Given the description of an element on the screen output the (x, y) to click on. 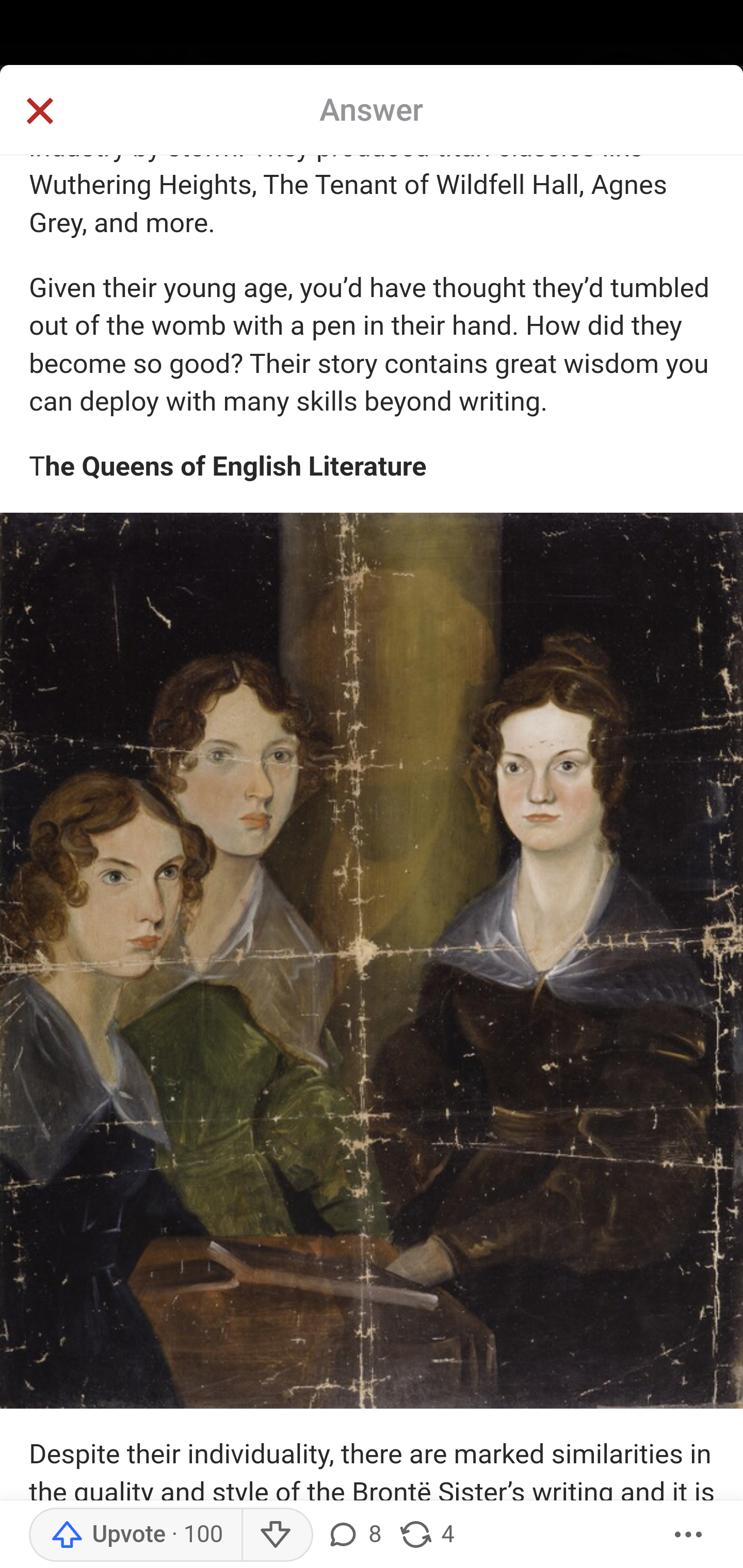
 (39, 112)
Upvote (135, 1534)
Downvote (277, 1534)
8 comments (353, 1534)
4 shares (425, 1534)
More (688, 1534)
